Given the description of an element on the screen output the (x, y) to click on. 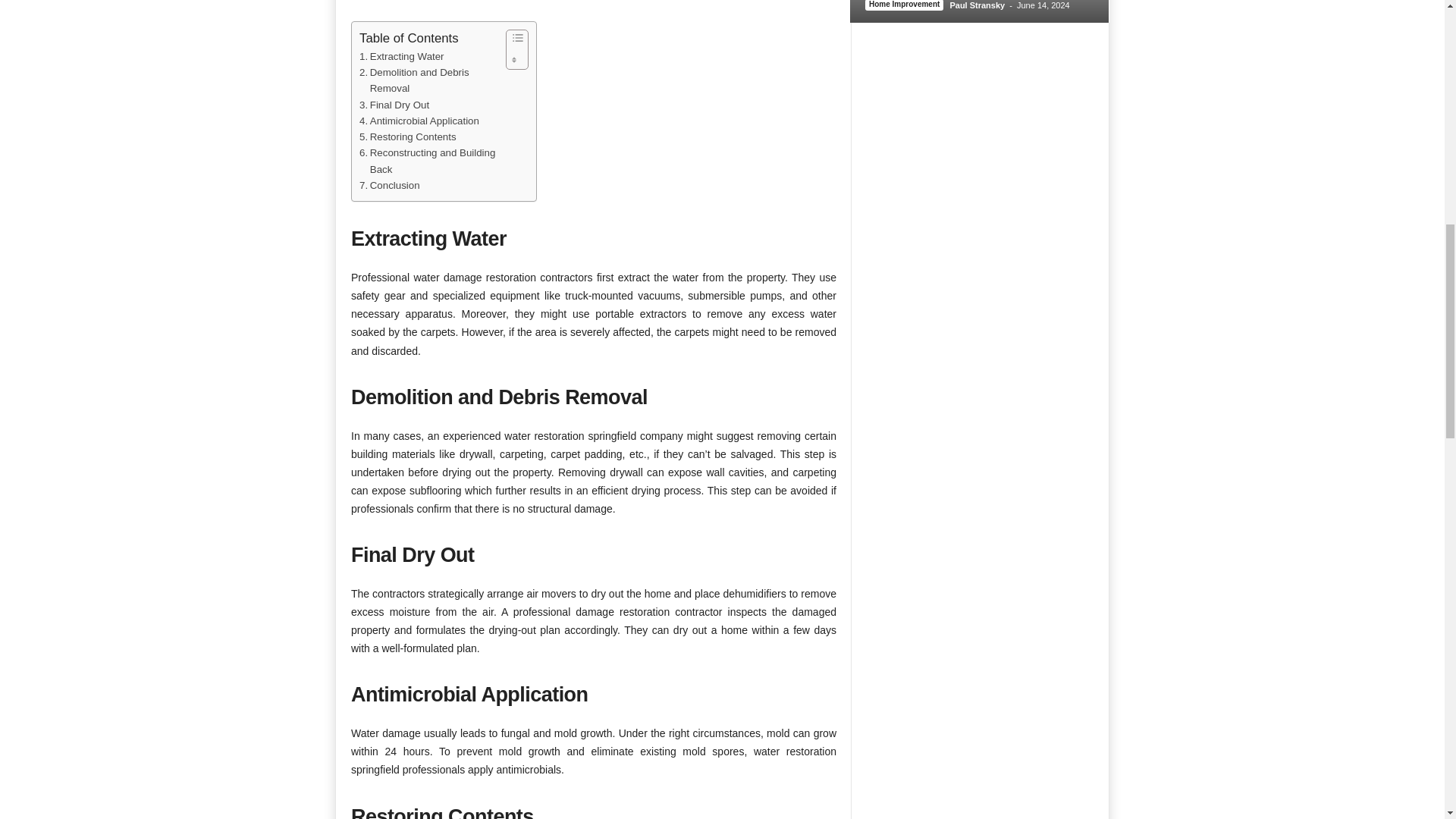
Demolition and Debris Removal (428, 80)
Extracting Water (401, 56)
Demolition and Debris Removal (428, 80)
Extracting Water (401, 56)
